Given the description of an element on the screen output the (x, y) to click on. 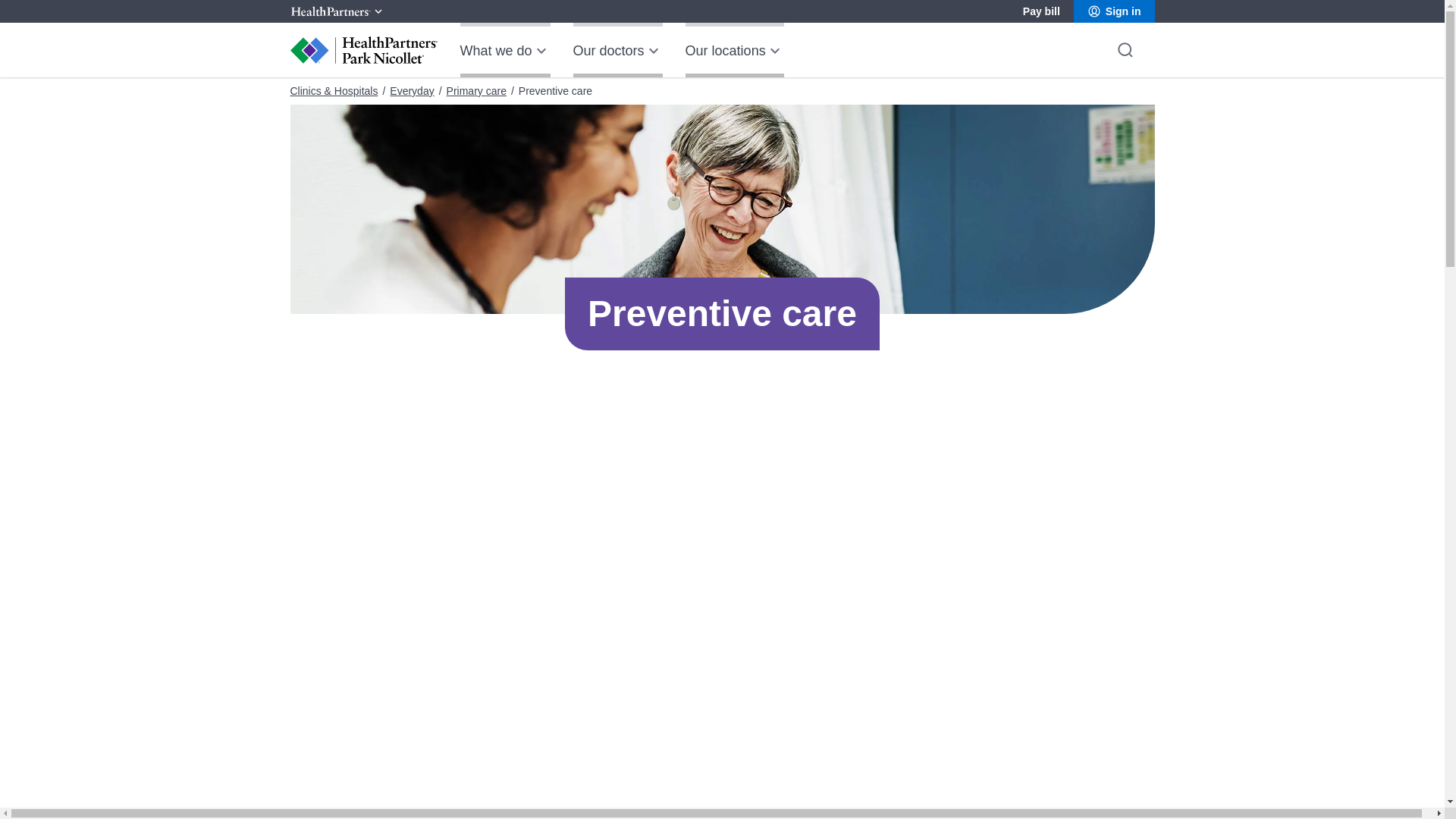
What we do (505, 49)
Sign in (1114, 11)
Primary care (476, 91)
Our locations (734, 49)
Everyday (411, 91)
Pay bill (1041, 11)
Our doctors (617, 49)
